Given the description of an element on the screen output the (x, y) to click on. 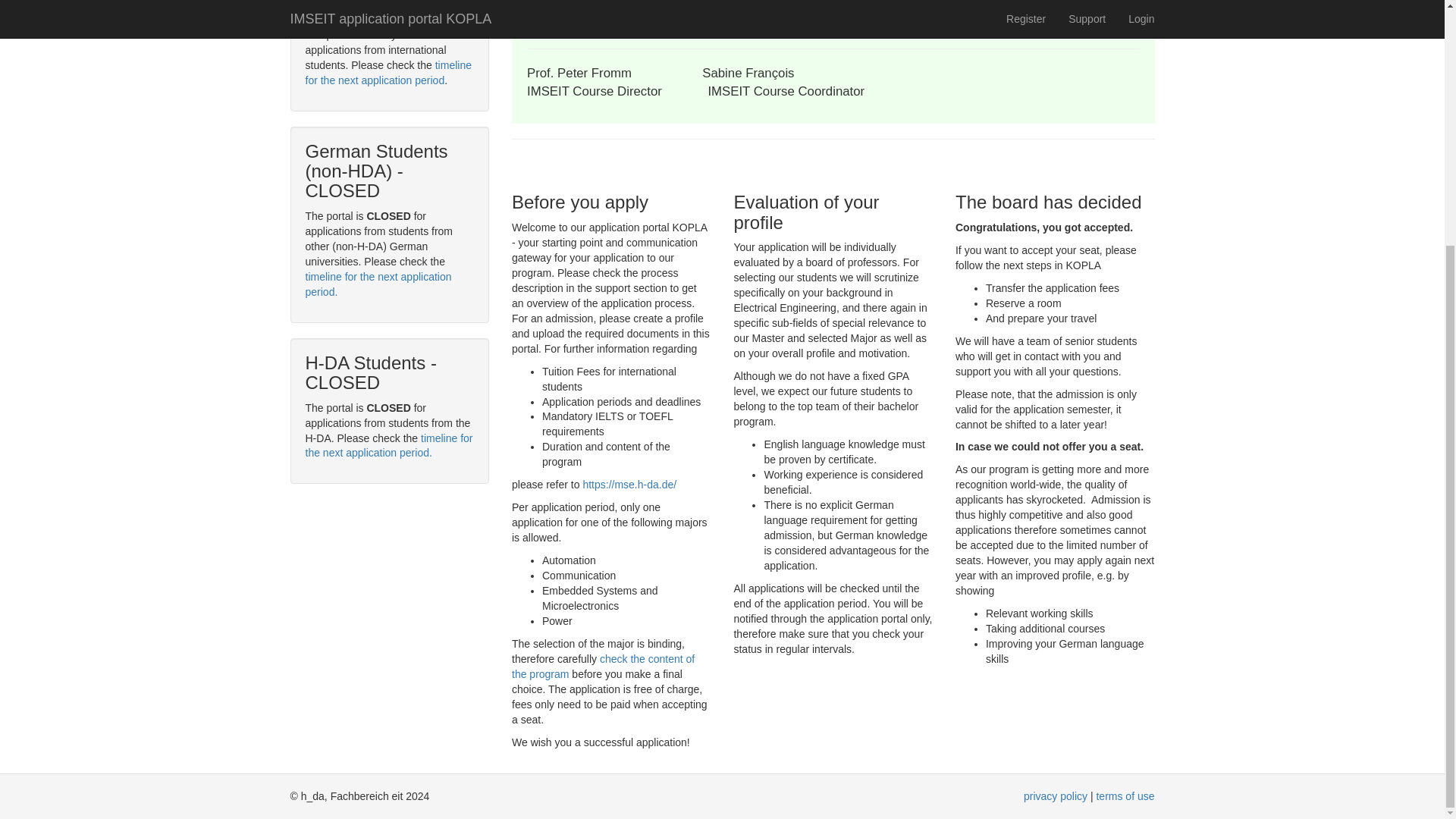
terms of use (1125, 796)
timeline for the next application period (387, 72)
timeline for the next application period. (377, 284)
timeline for the next application period. (387, 444)
privacy policy (1055, 796)
check the content of the program (603, 666)
